Given the description of an element on the screen output the (x, y) to click on. 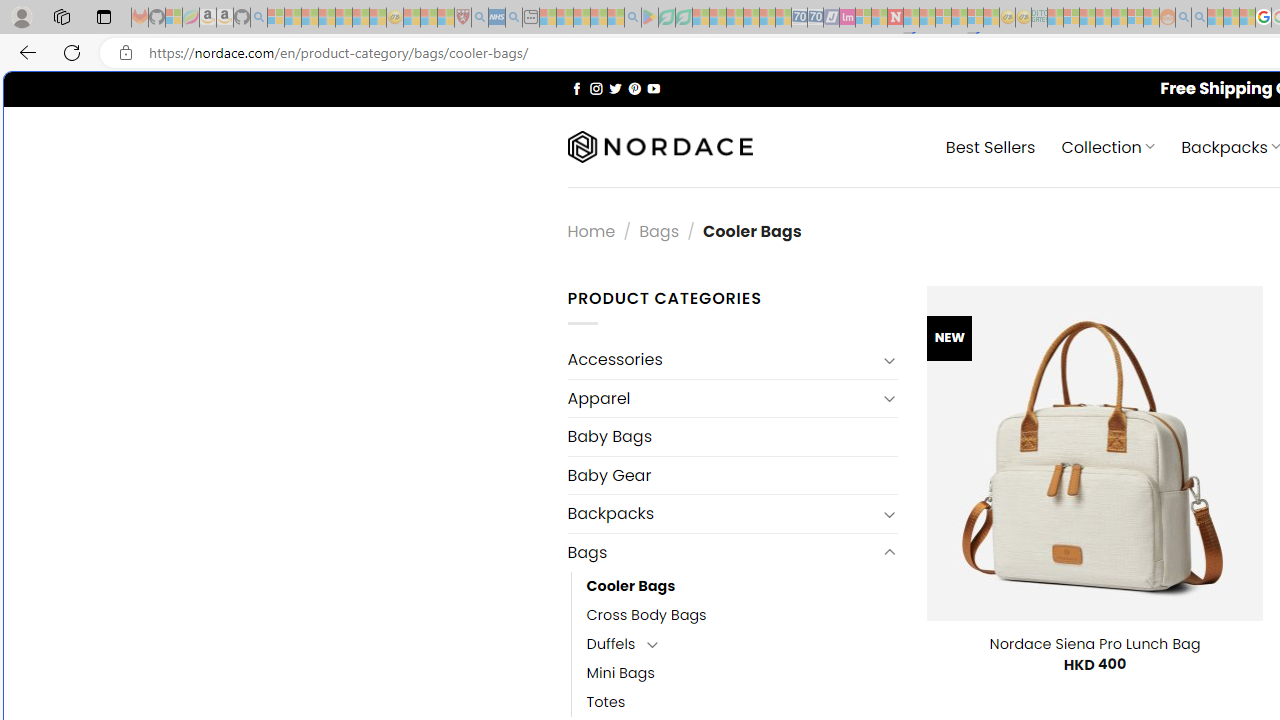
Duffels (611, 643)
Accessories (721, 359)
Follow on Facebook (576, 88)
DITOGAMES AG Imprint - Sleeping (1039, 17)
Cheap Hotels - Save70.com - Sleeping (815, 17)
Follow on Twitter (615, 88)
Kinda Frugal - MSN - Sleeping (1119, 17)
New Report Confirms 2023 Was Record Hot | Watch - Sleeping (343, 17)
Trusted Community Engagement and Contributions | Guidelines (911, 17)
Recipes - MSN - Sleeping (411, 17)
